Given the description of an element on the screen output the (x, y) to click on. 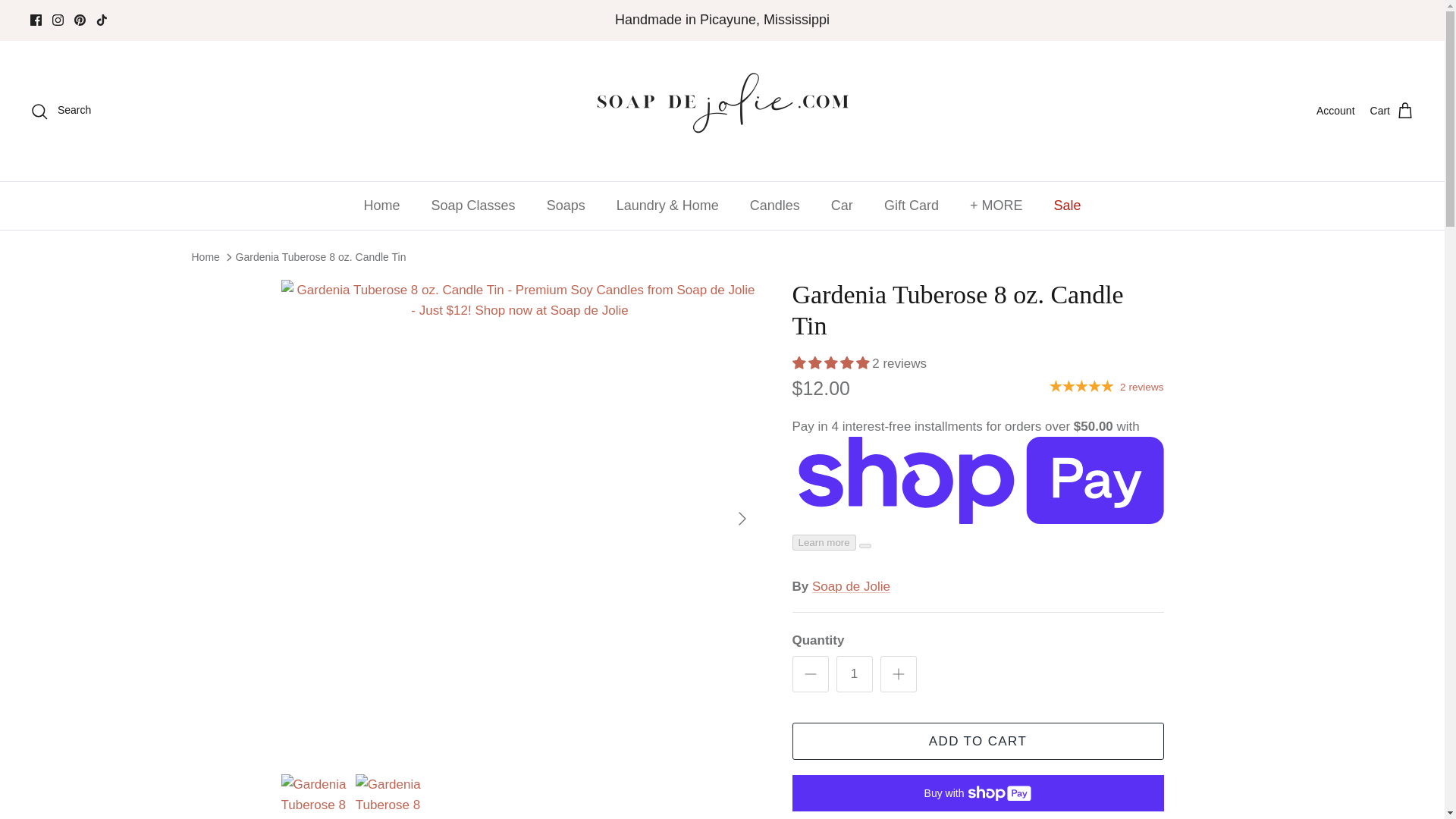
Soap de Jolie (722, 111)
1 (853, 674)
Minus (809, 674)
Home (381, 205)
Plus (897, 674)
Account (1335, 110)
Instagram (58, 19)
Pinterest (79, 19)
Soaps (565, 205)
Search (60, 110)
Facebook (36, 19)
Instagram (58, 19)
Soap Classes (473, 205)
Cart (1391, 110)
RIGHT (741, 518)
